Given the description of an element on the screen output the (x, y) to click on. 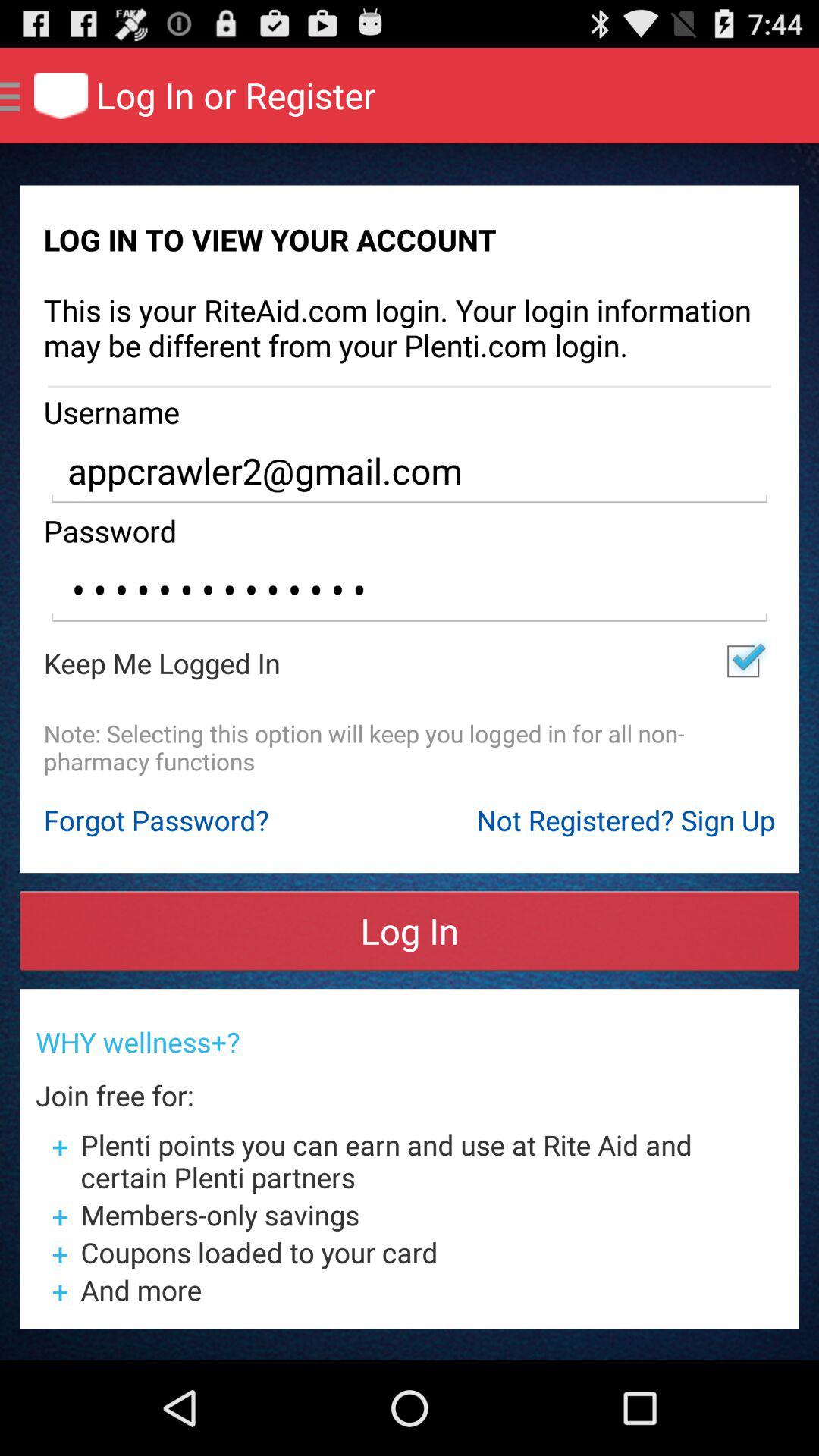
select the app next to the keep me logged (743, 661)
